Given the description of an element on the screen output the (x, y) to click on. 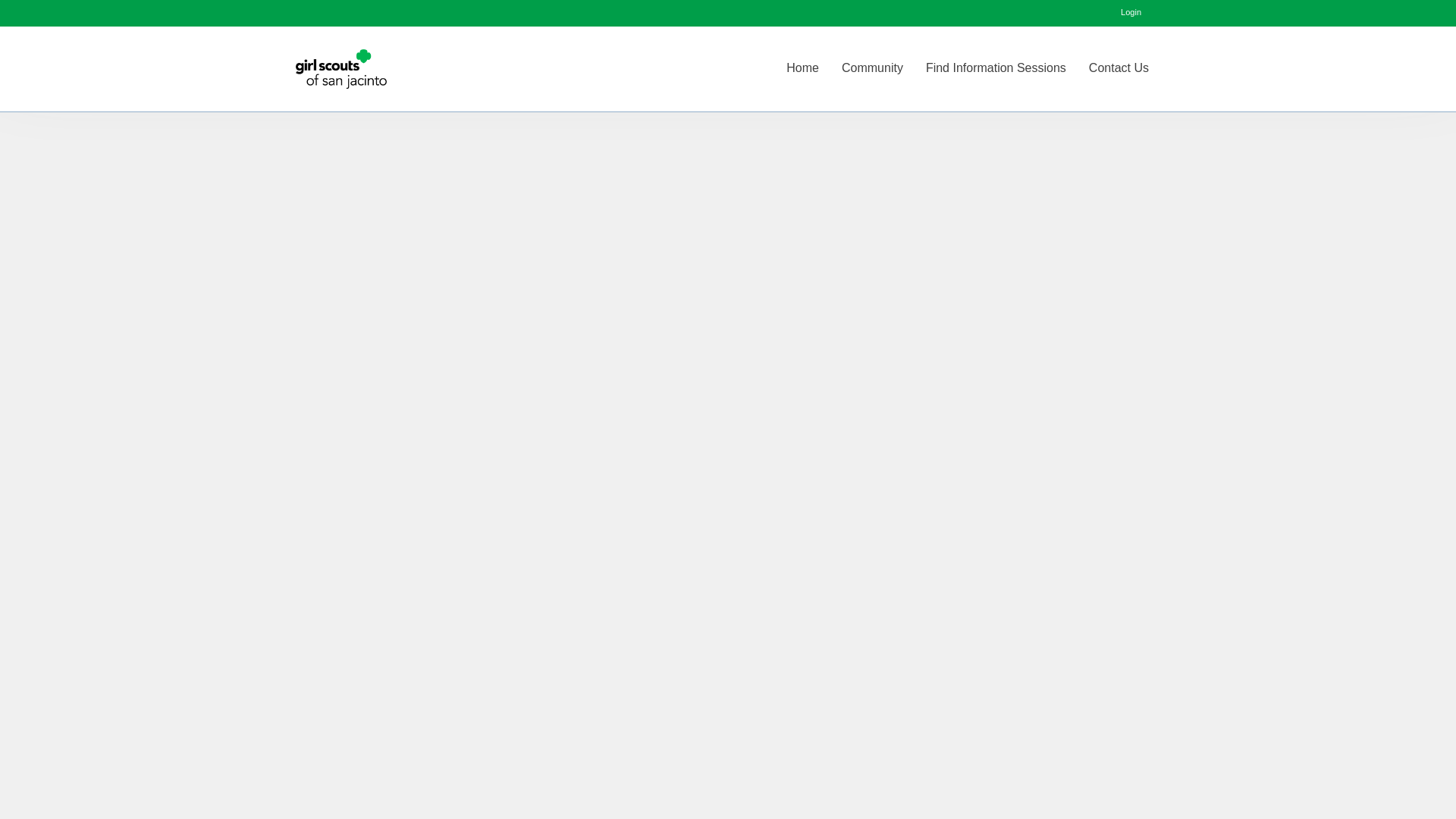
Contact Us (1118, 67)
GSSJC Online Community (341, 67)
Home (801, 67)
Find Information Sessions (995, 67)
Login (1131, 12)
Login (1131, 12)
Community (871, 67)
